Given the description of an element on the screen output the (x, y) to click on. 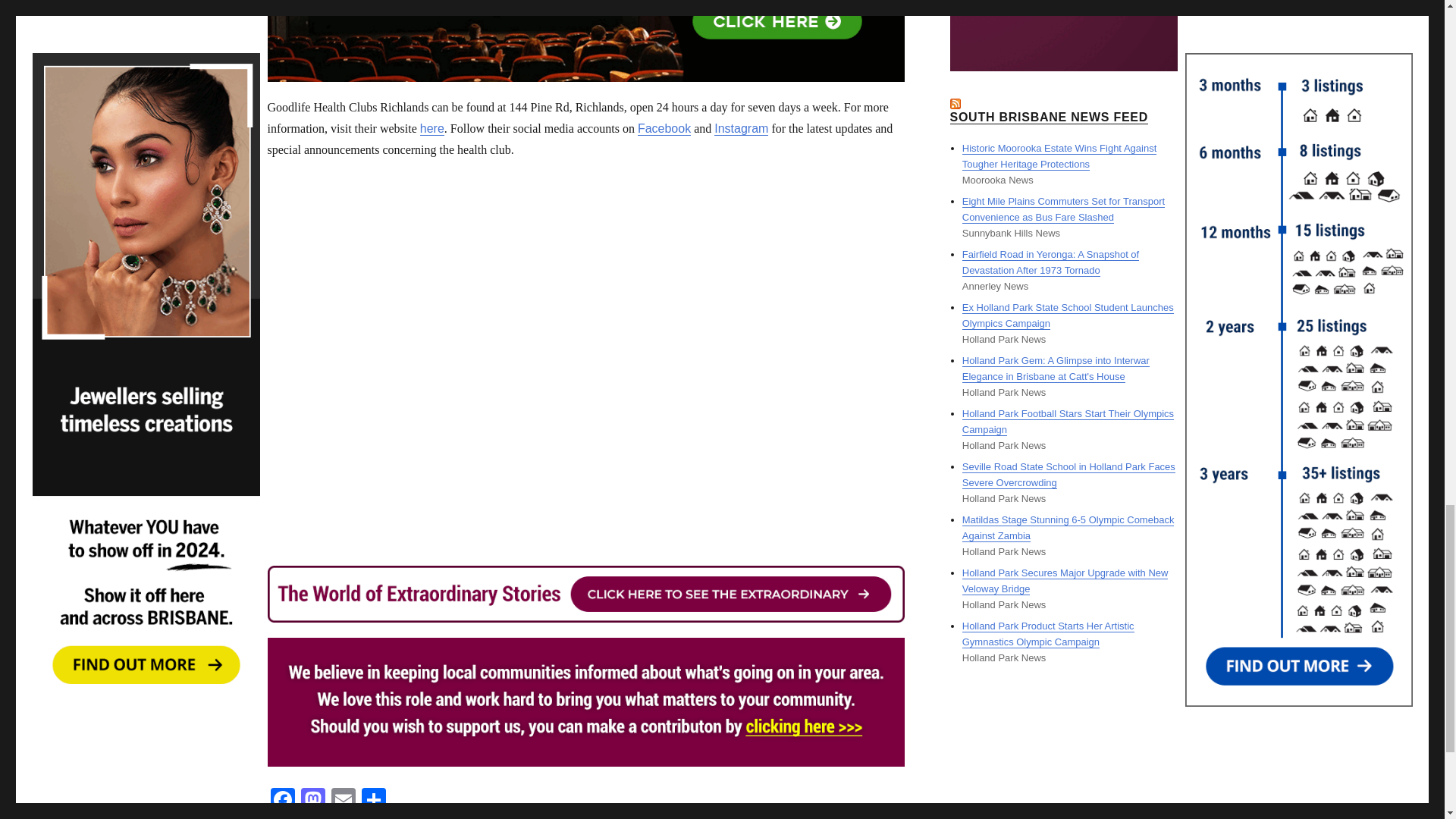
Instagram (741, 128)
Email (342, 801)
Email (342, 801)
Mastodon (312, 801)
SOUTH BRISBANE NEWS FEED (1048, 116)
Mastodon (312, 801)
Facebook (281, 801)
Facebook (663, 128)
Share (373, 801)
Facebook (281, 801)
here (432, 128)
